Given the description of an element on the screen output the (x, y) to click on. 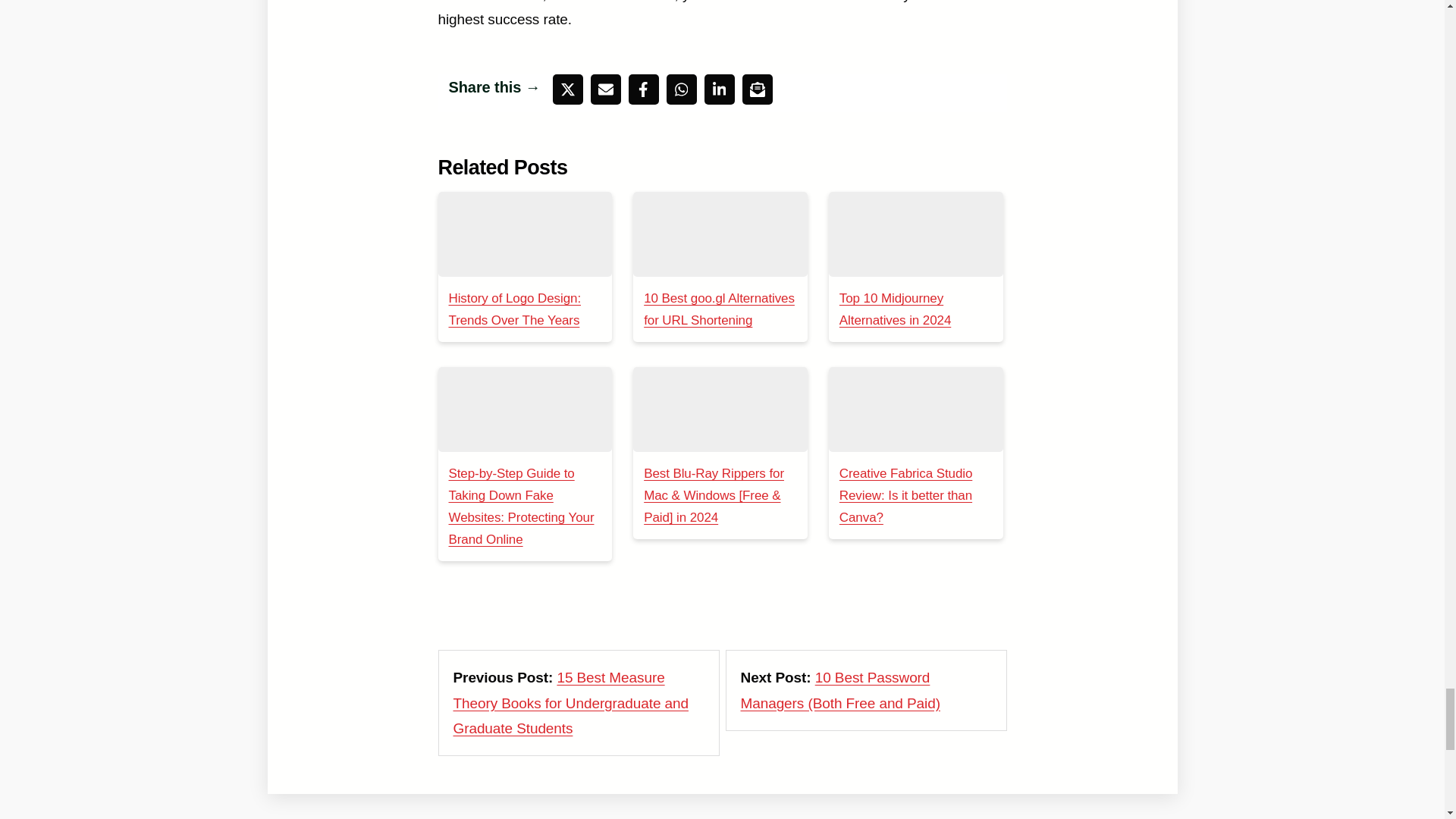
Creative Fabrica Studio Review: Is it better than Canva? (915, 409)
Top 10 Midjourney Alternatives in 2024 (915, 233)
10 Best goo.gl Alternatives for URL Shortening (720, 233)
History of Logo Design: Trends Over The Years (525, 233)
